Given the description of an element on the screen output the (x, y) to click on. 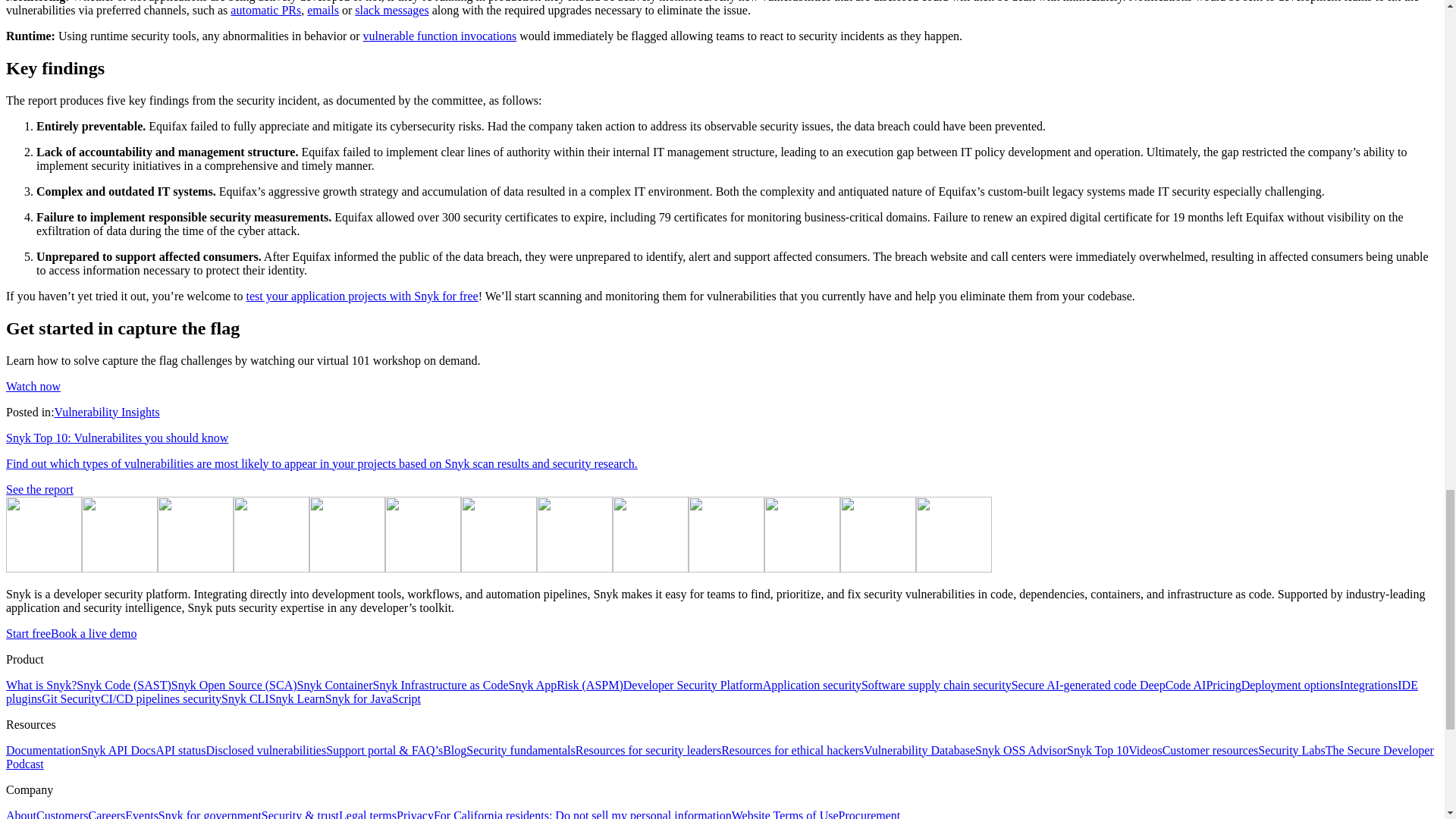
Book a live demo (93, 632)
Watch now (33, 385)
Start free (27, 632)
